Given the description of an element on the screen output the (x, y) to click on. 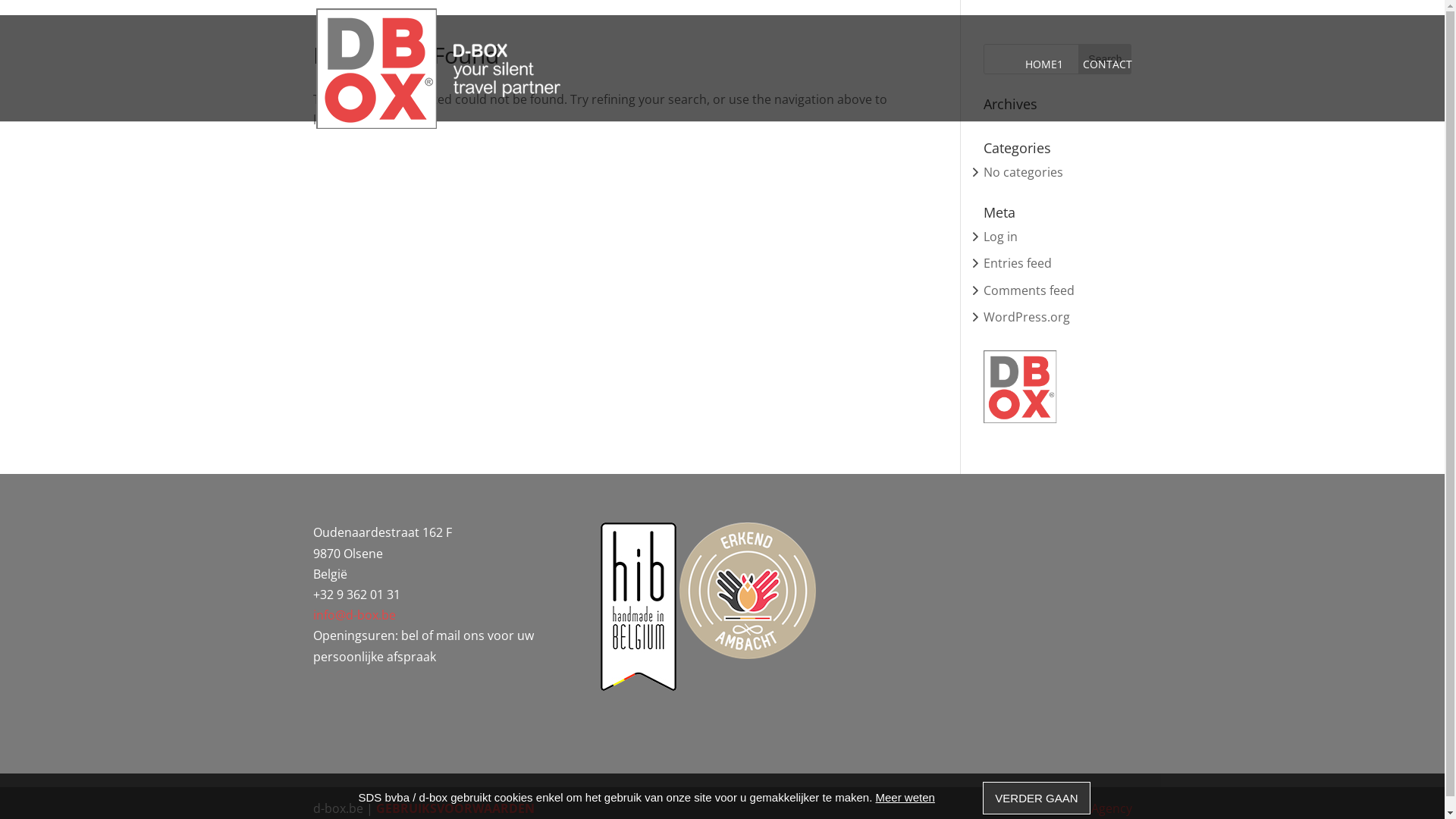
O2 Agency Element type: text (1102, 808)
Log in Element type: text (1000, 236)
Comments feed Element type: text (1028, 290)
Meer weten Element type: text (905, 796)
GEBRUIKSVOORWAARDEN Element type: text (455, 808)
Search Element type: text (1104, 58)
CONTACT Element type: text (1107, 76)
HOME1 Element type: text (1044, 76)
info@d-box.be Element type: text (353, 614)
Entries feed Element type: text (1017, 262)
WordPress.org Element type: text (1026, 316)
